Given the description of an element on the screen output the (x, y) to click on. 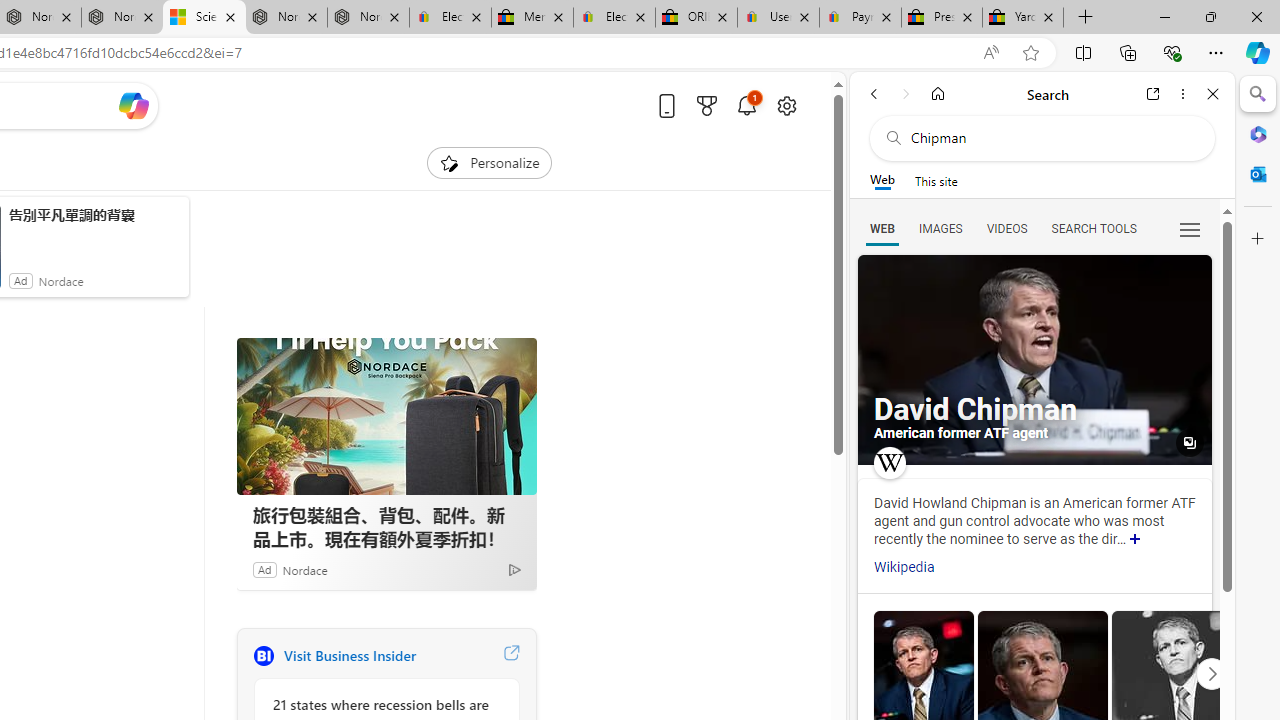
Nordace (304, 569)
Class: b_serphb (1190, 229)
All images (1034, 359)
To get missing image descriptions, open the context menu. (449, 162)
Open link in new tab (1153, 93)
Search Filter, WEB (882, 228)
Search the web (1051, 137)
Electronics, Cars, Fashion, Collectibles & More | eBay (614, 17)
Web scope (882, 180)
